Given the description of an element on the screen output the (x, y) to click on. 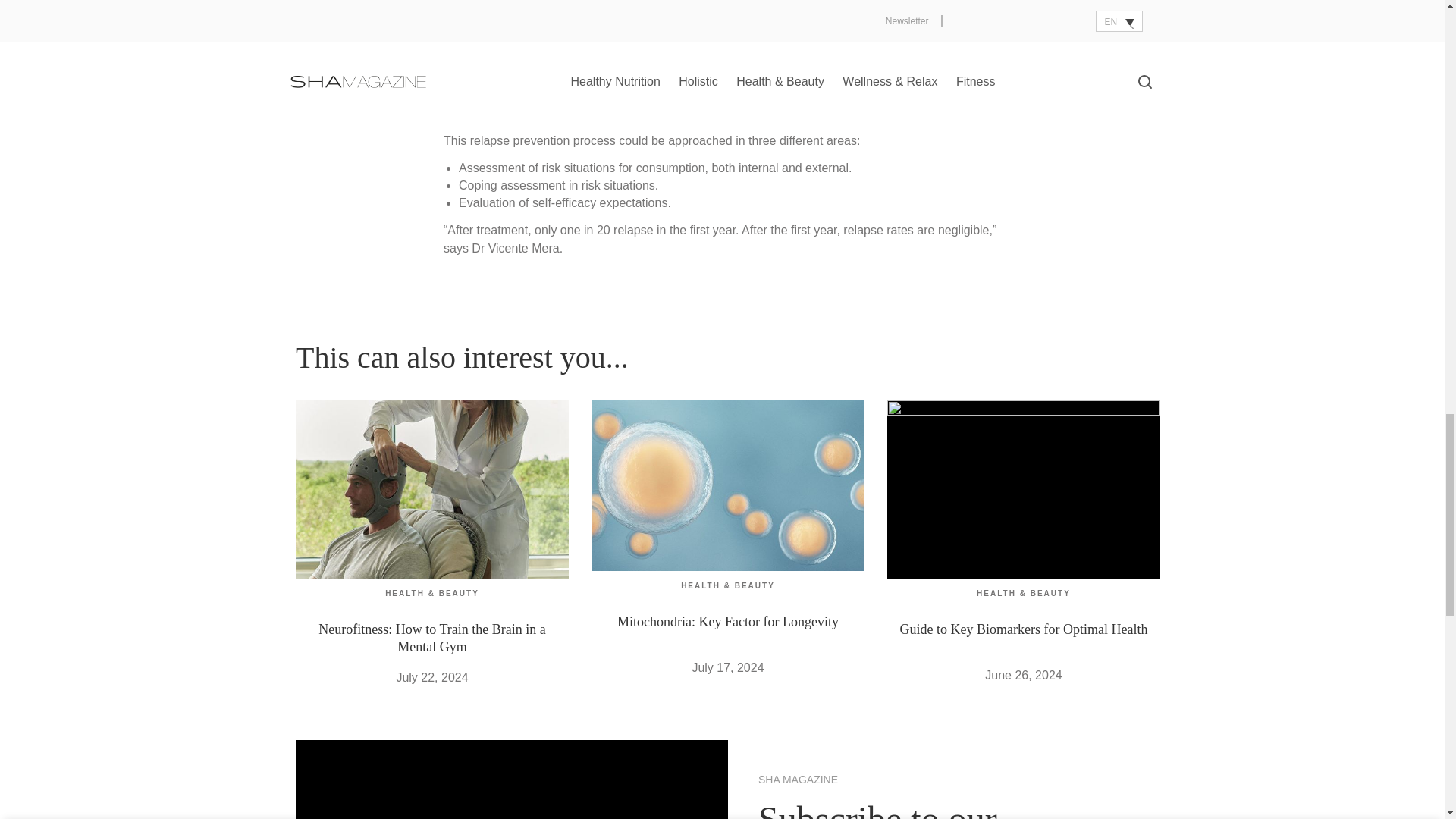
Guide to Key Biomarkers for Optimal Health (1023, 629)
Mitochondria: Key Factor for Longevity (727, 621)
Neurofitness: How to Train the Brain in a Mental Gym (431, 637)
